Given the description of an element on the screen output the (x, y) to click on. 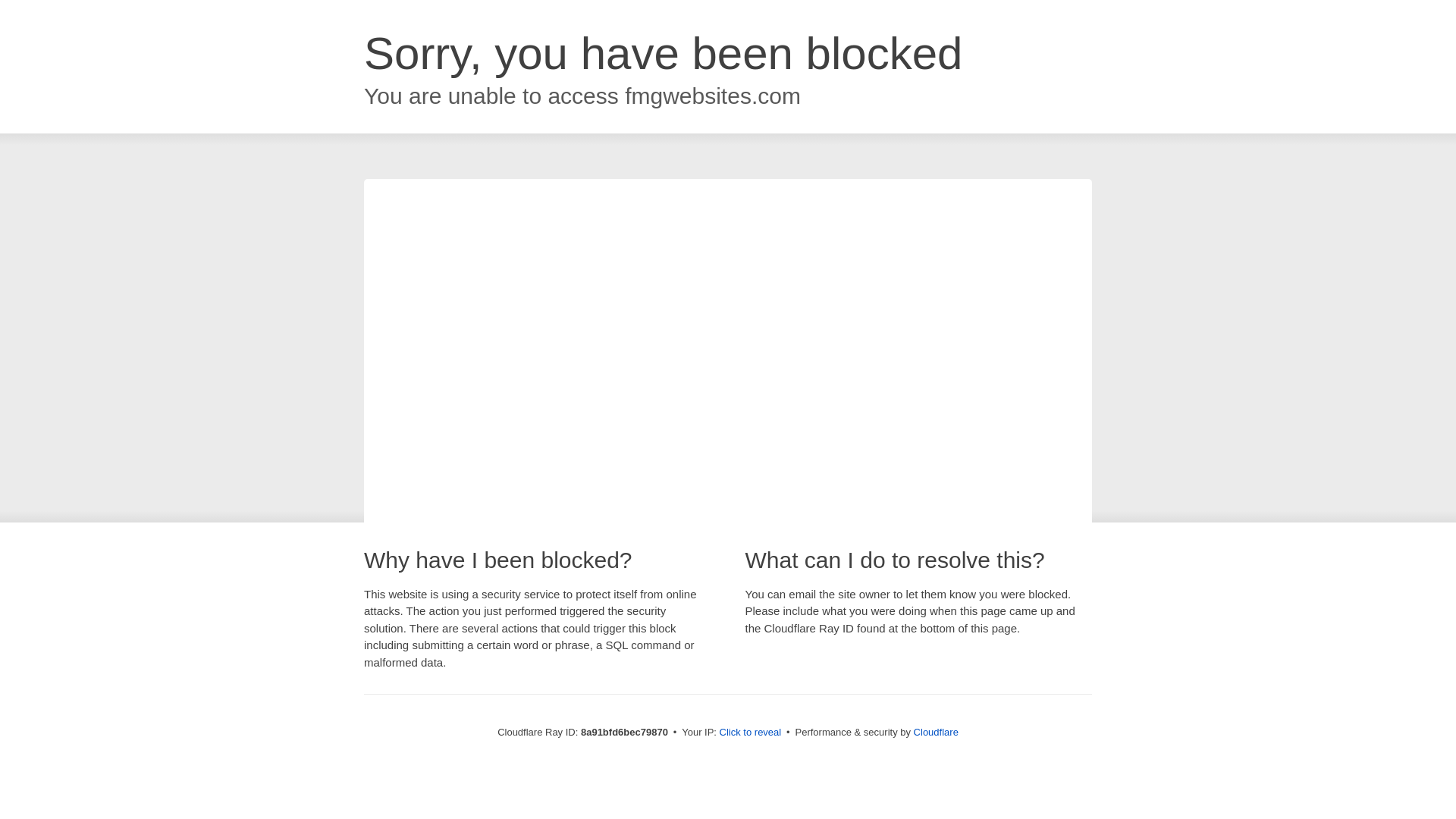
Click to reveal (750, 732)
Cloudflare (936, 731)
